Given the description of an element on the screen output the (x, y) to click on. 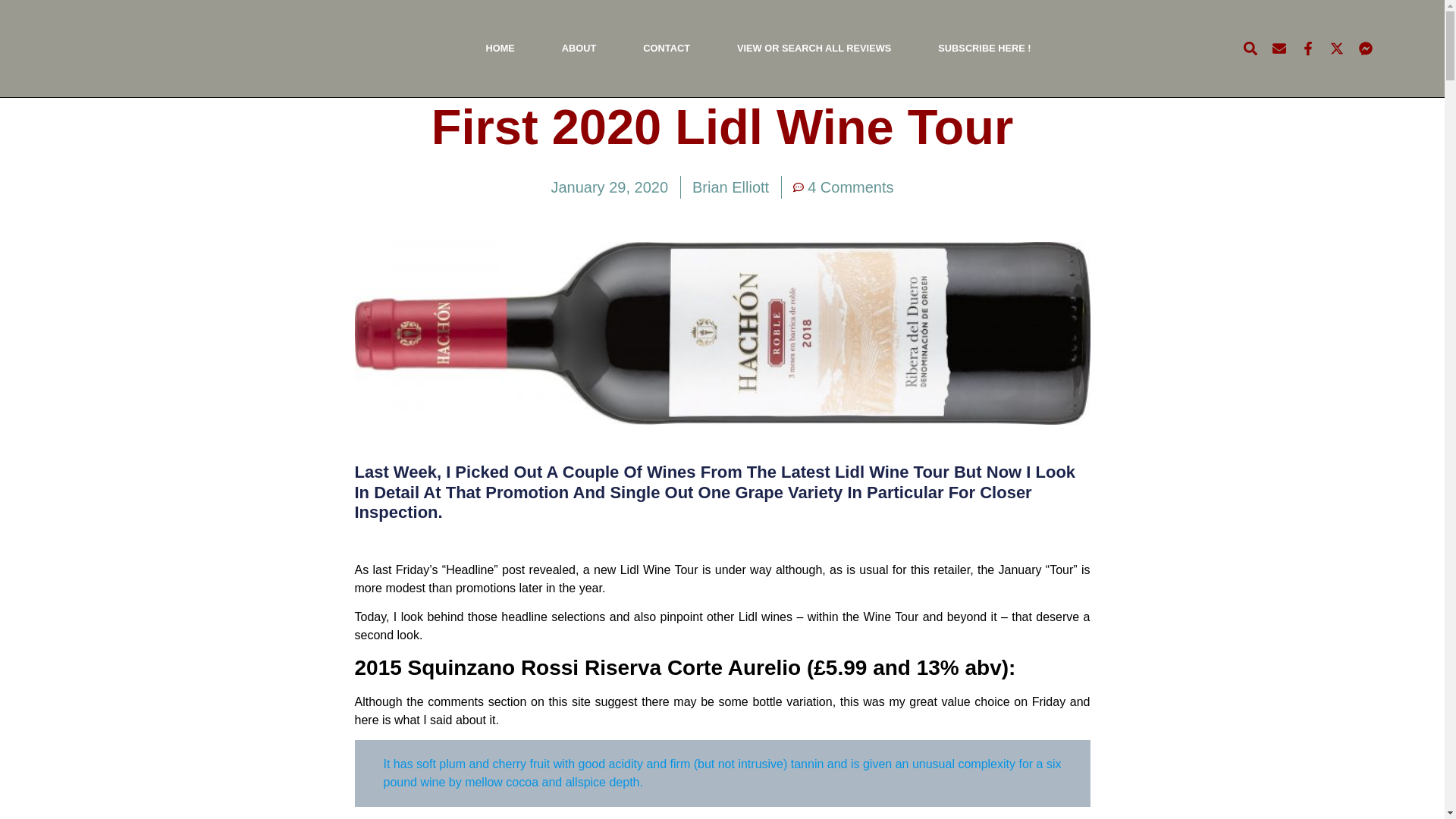
Brian Elliott (730, 187)
January 29, 2020 (609, 187)
SUBSCRIBE HERE ! (984, 48)
HOME (499, 48)
CONTACT (666, 48)
4 Comments (843, 187)
VIEW OR SEARCH ALL REVIEWS (813, 48)
ABOUT (579, 48)
